Given the description of an element on the screen output the (x, y) to click on. 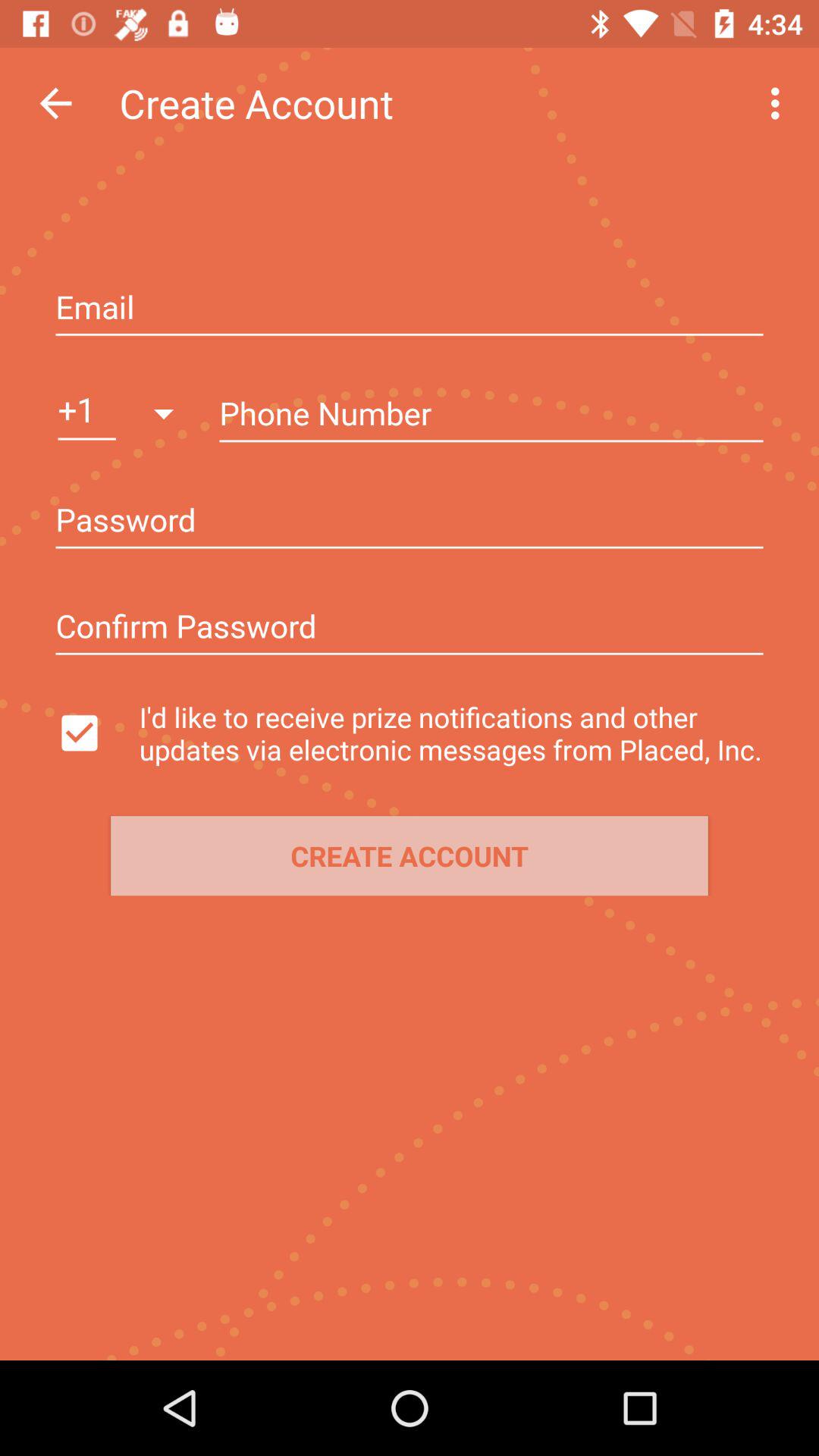
click to enter password (409, 521)
